Given the description of an element on the screen output the (x, y) to click on. 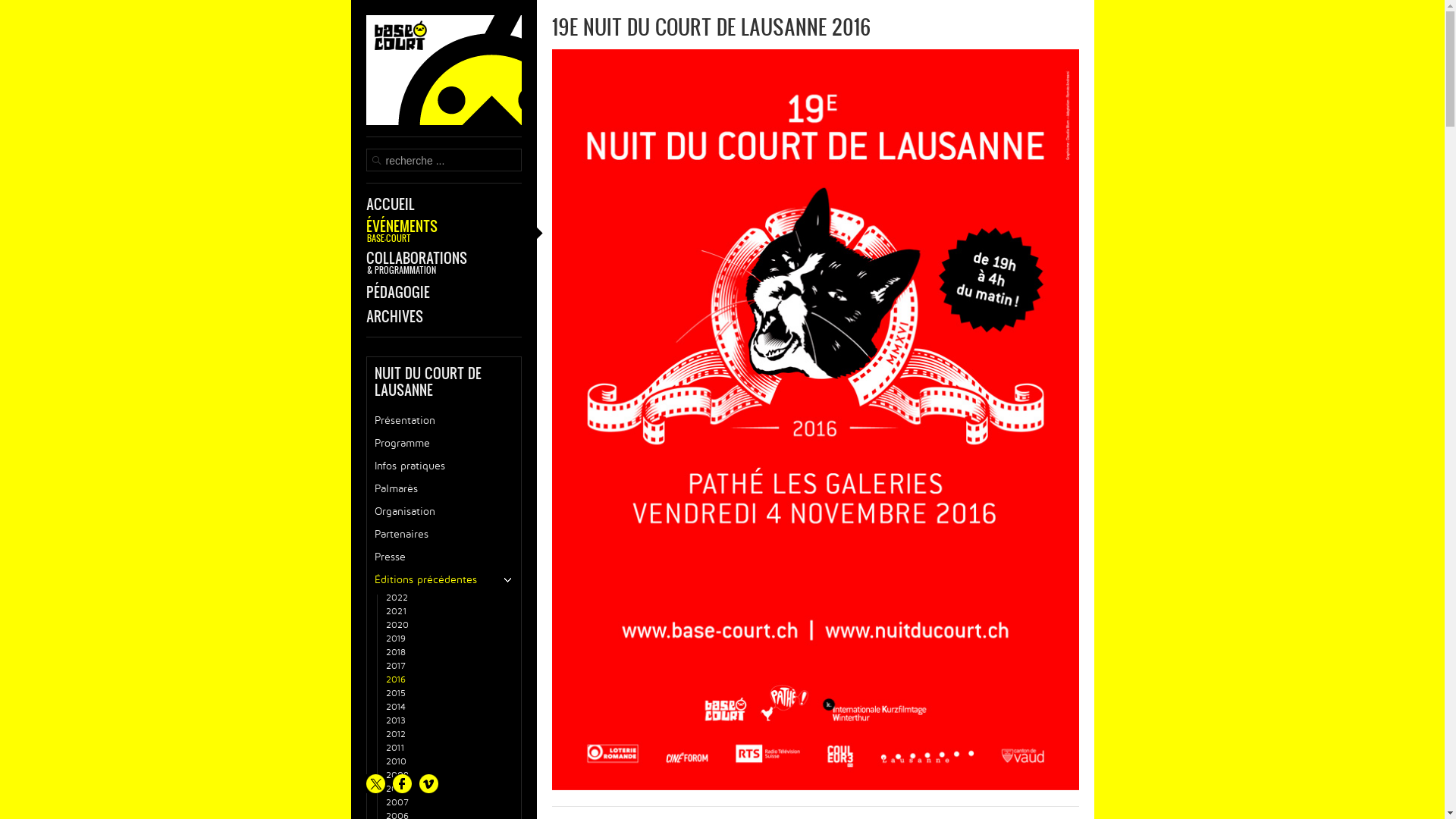
2018 Element type: text (448, 652)
ACCUEIL Element type: text (442, 203)
COLLABORATIONS
& PROGRAMMATION Element type: text (442, 262)
2016 Element type: text (448, 680)
2015 Element type: text (448, 693)
2007 Element type: text (448, 802)
2022 Element type: text (448, 598)
Reset Element type: text (3, 3)
Infos pratiques Element type: text (443, 466)
2010 Element type: text (448, 761)
Presse Element type: text (443, 557)
2021 Element type: text (448, 611)
2011 Element type: text (448, 748)
2009 Element type: text (448, 775)
2017 Element type: text (448, 666)
2008 Element type: text (448, 789)
  Element type: text (442, 76)
2020 Element type: text (448, 625)
Programme Element type: text (443, 443)
2012 Element type: text (448, 734)
2013 Element type: text (448, 721)
Organisation Element type: text (443, 511)
Partenaires Element type: text (443, 534)
2014 Element type: text (448, 707)
2019 Element type: text (448, 639)
ARCHIVES Element type: text (442, 316)
